Given the description of an element on the screen output the (x, y) to click on. 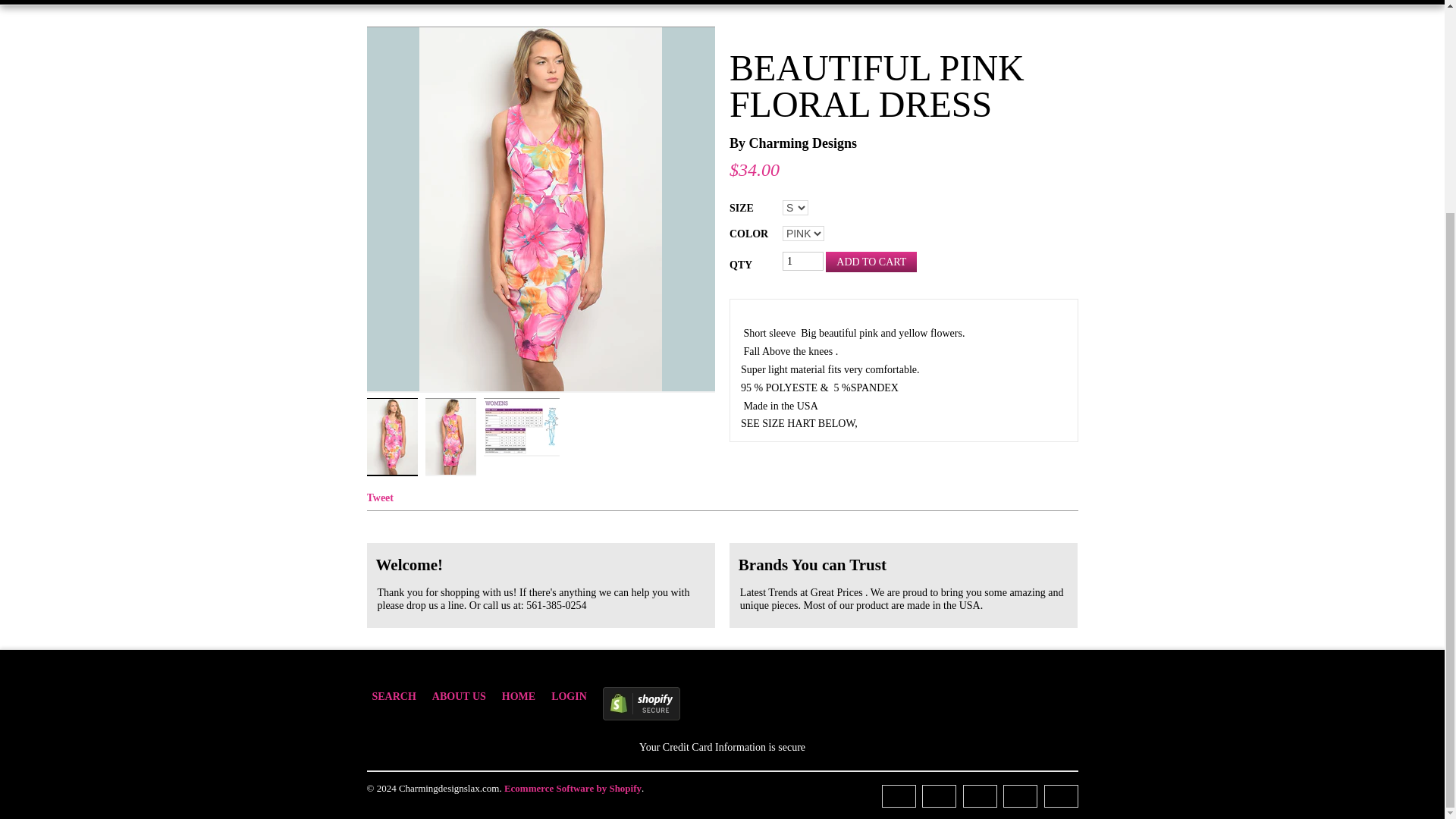
1 (803, 261)
Tweet (380, 497)
HOME (526, 697)
This online store is secured by Shopify (724, 703)
Ecommerce Software by Shopify (572, 787)
SEARCH (400, 697)
ABOUT US (467, 697)
LOGIN (576, 697)
Add To Cart (871, 261)
Add To Cart (871, 261)
